Given the description of an element on the screen output the (x, y) to click on. 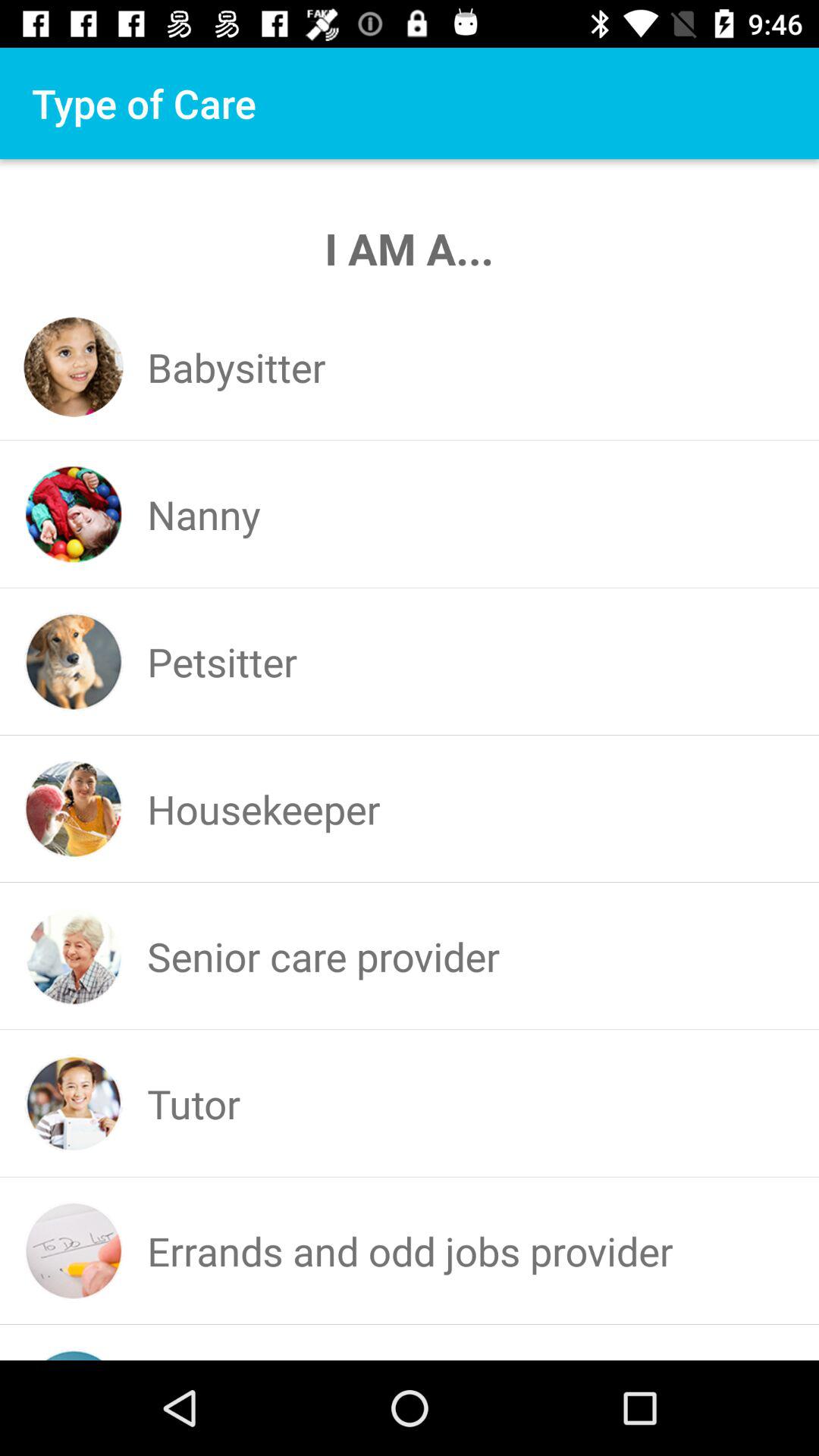
tap the i am a... icon (408, 247)
